Given the description of an element on the screen output the (x, y) to click on. 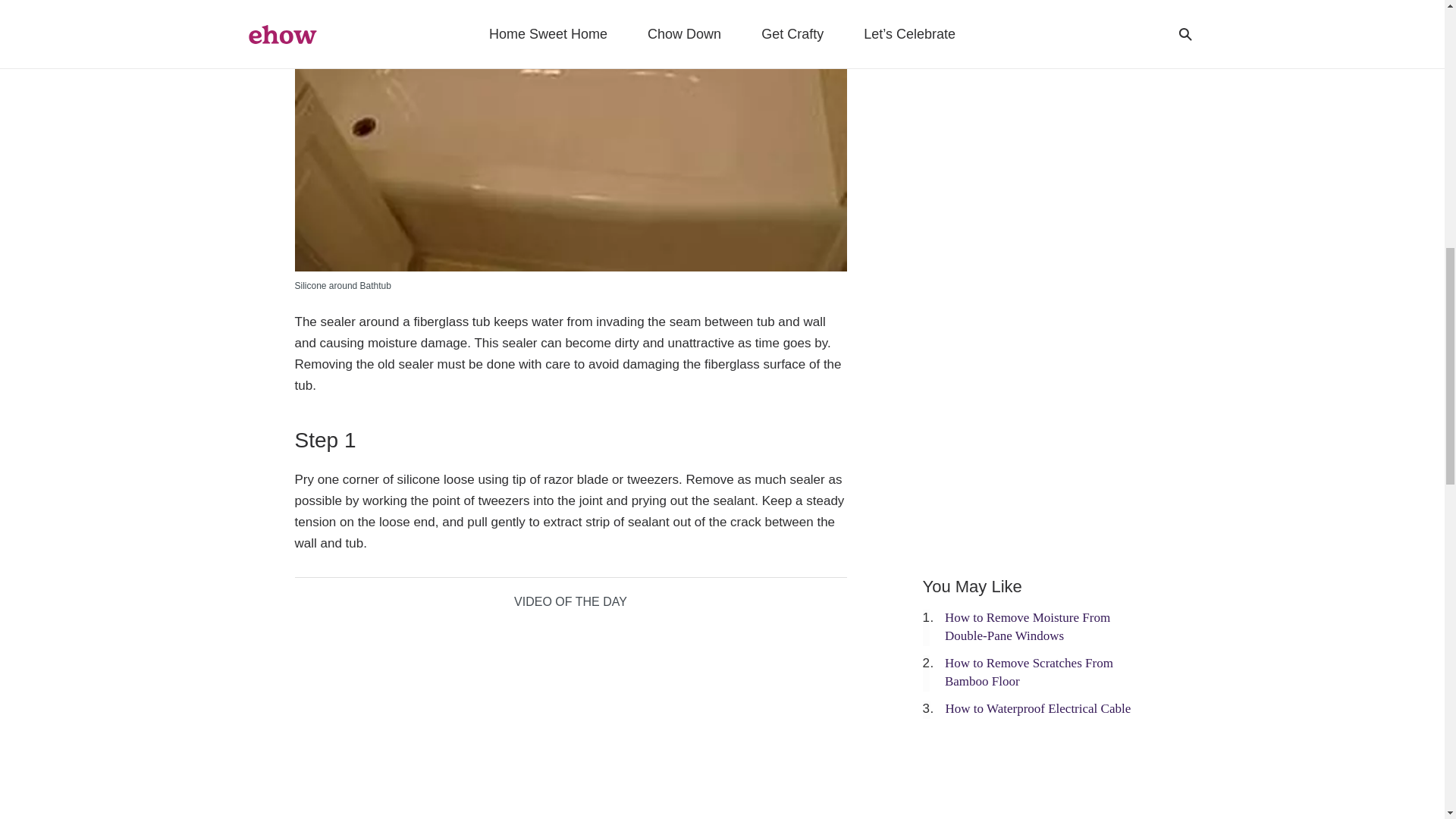
How to Remove Scratches From Bamboo Floor (1028, 672)
How to Remove Moisture From Double-Pane Windows (1026, 626)
How to Waterproof Electrical Cable (1037, 708)
